Given the description of an element on the screen output the (x, y) to click on. 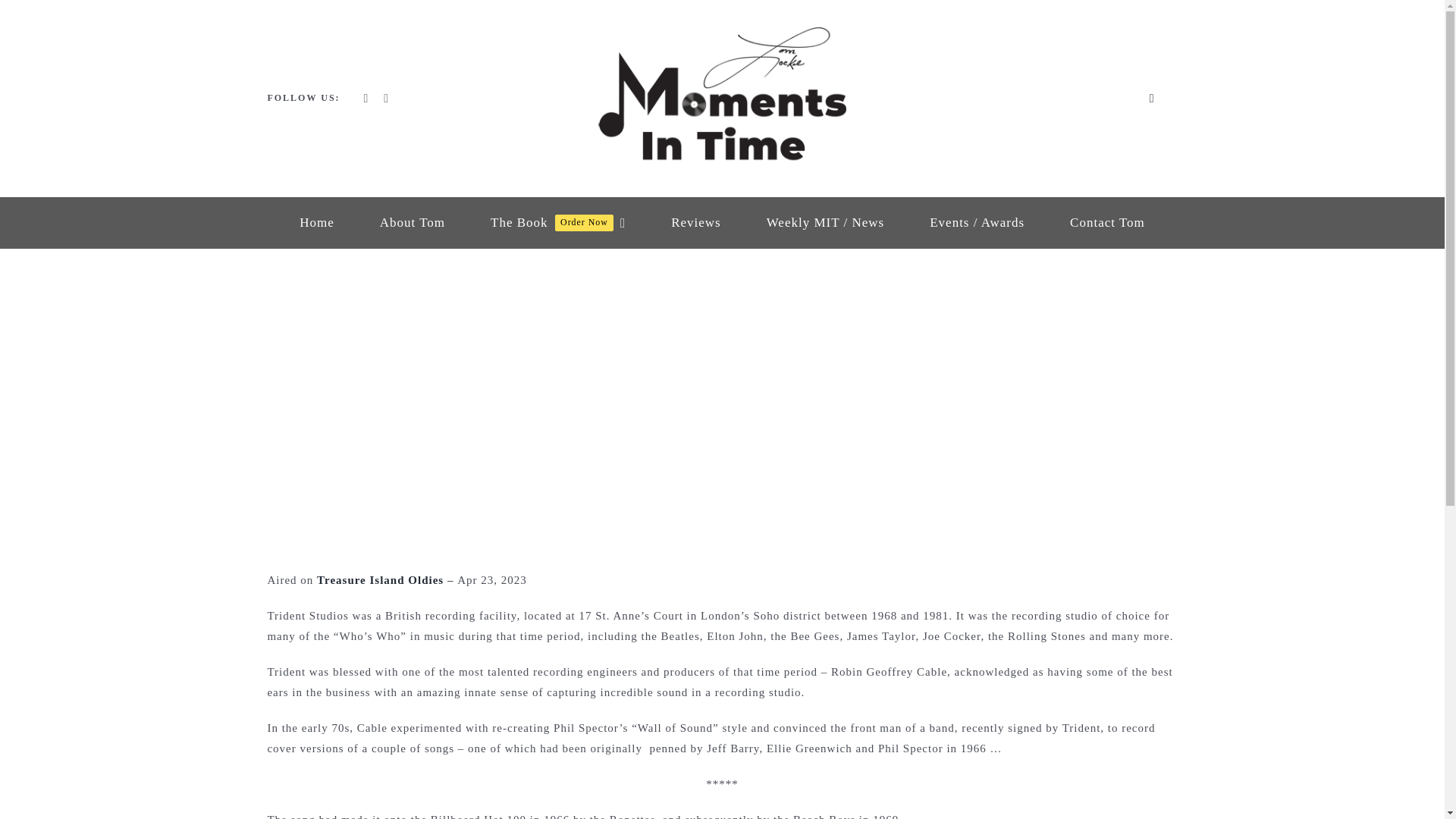
Treasure Island Oldies (558, 222)
Reviews (380, 580)
About Tom (695, 222)
Contact Tom (412, 222)
